Given the description of an element on the screen output the (x, y) to click on. 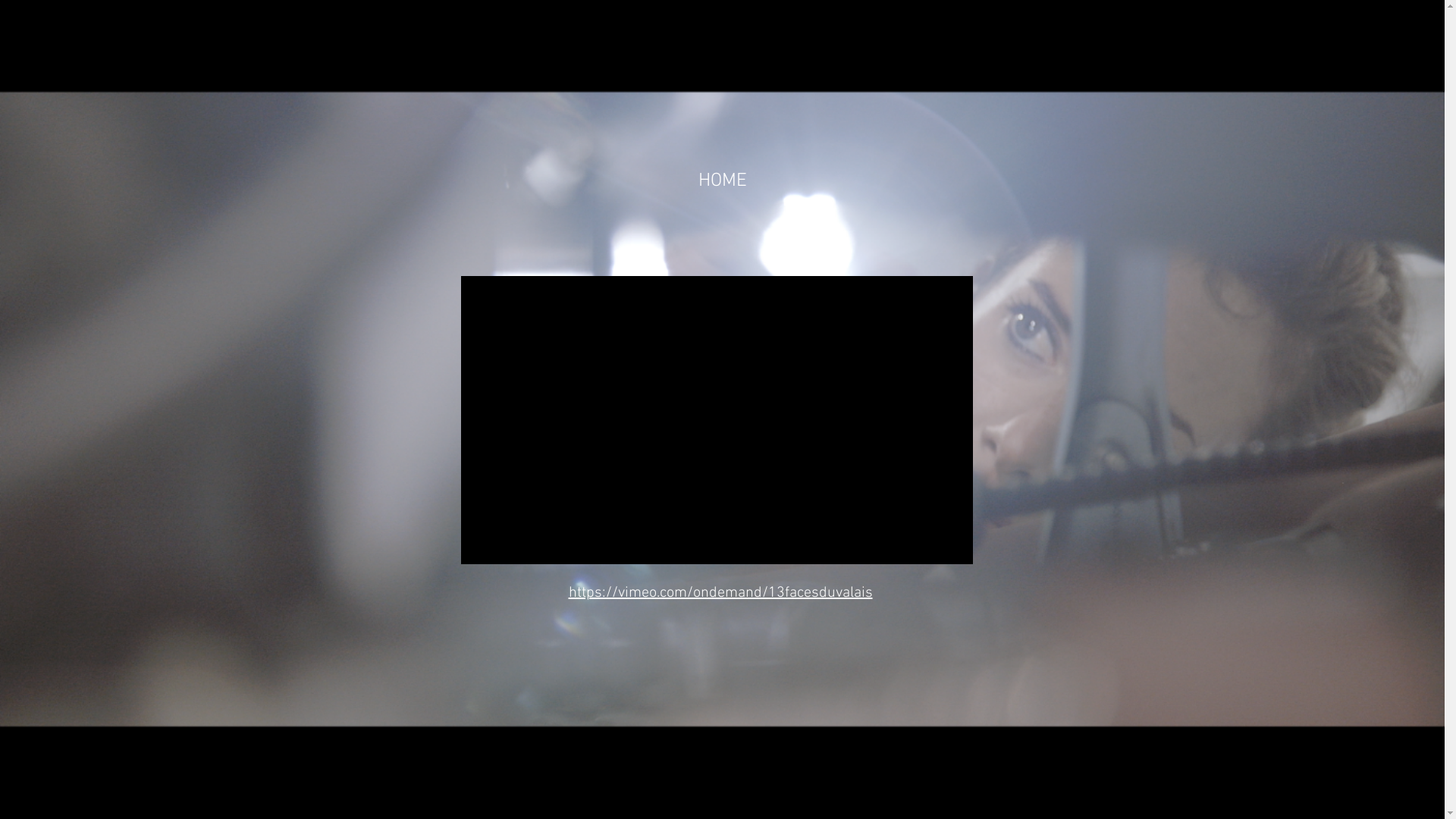
HOME Element type: text (721, 181)
https://vimeo.com/ondemand/13facesduvalais Element type: text (720, 591)
